Given the description of an element on the screen output the (x, y) to click on. 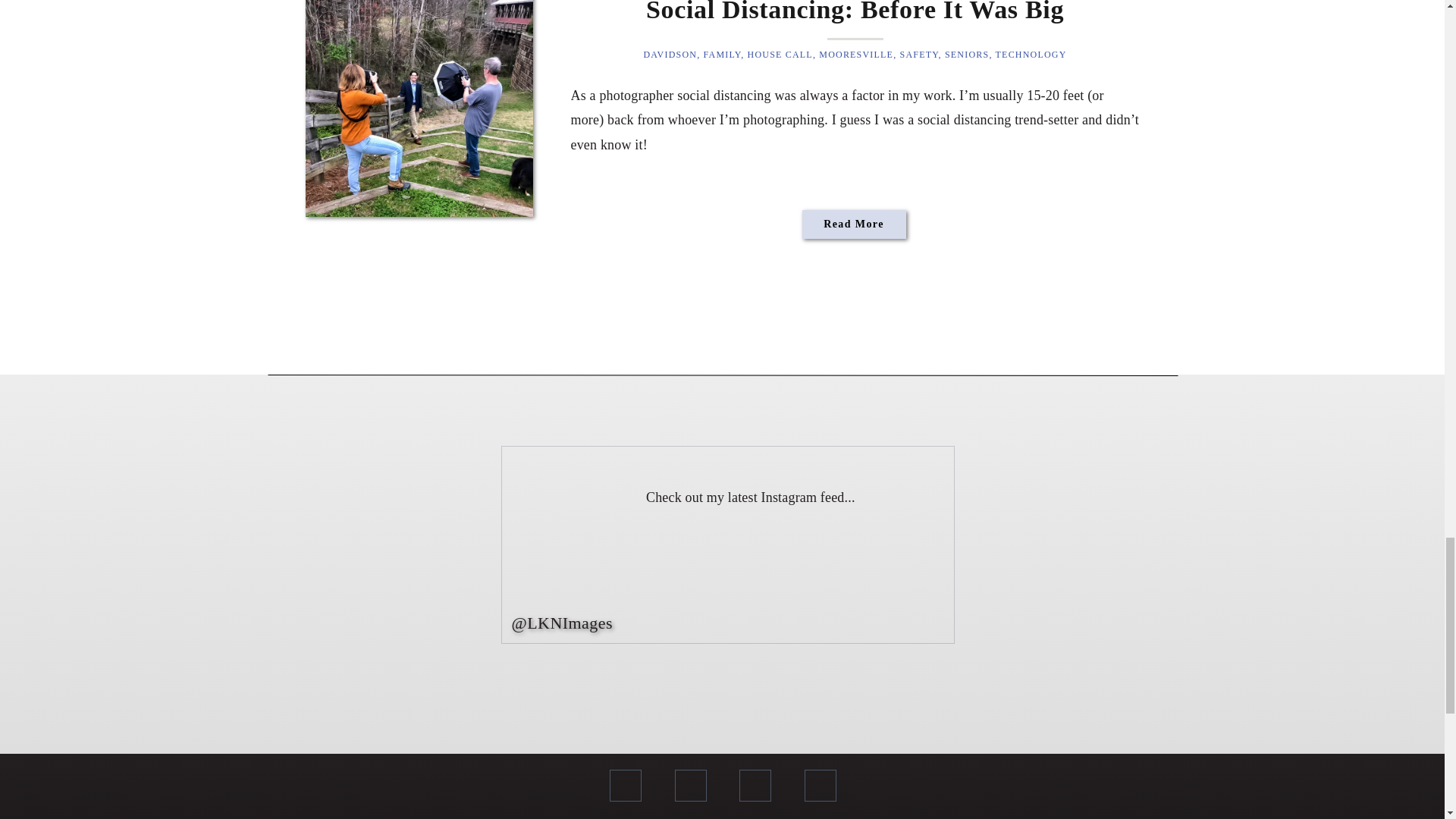
Social Distancing: Before It Was Big (853, 225)
Social Distancing: Before It Was Big (418, 108)
